Given the description of an element on the screen output the (x, y) to click on. 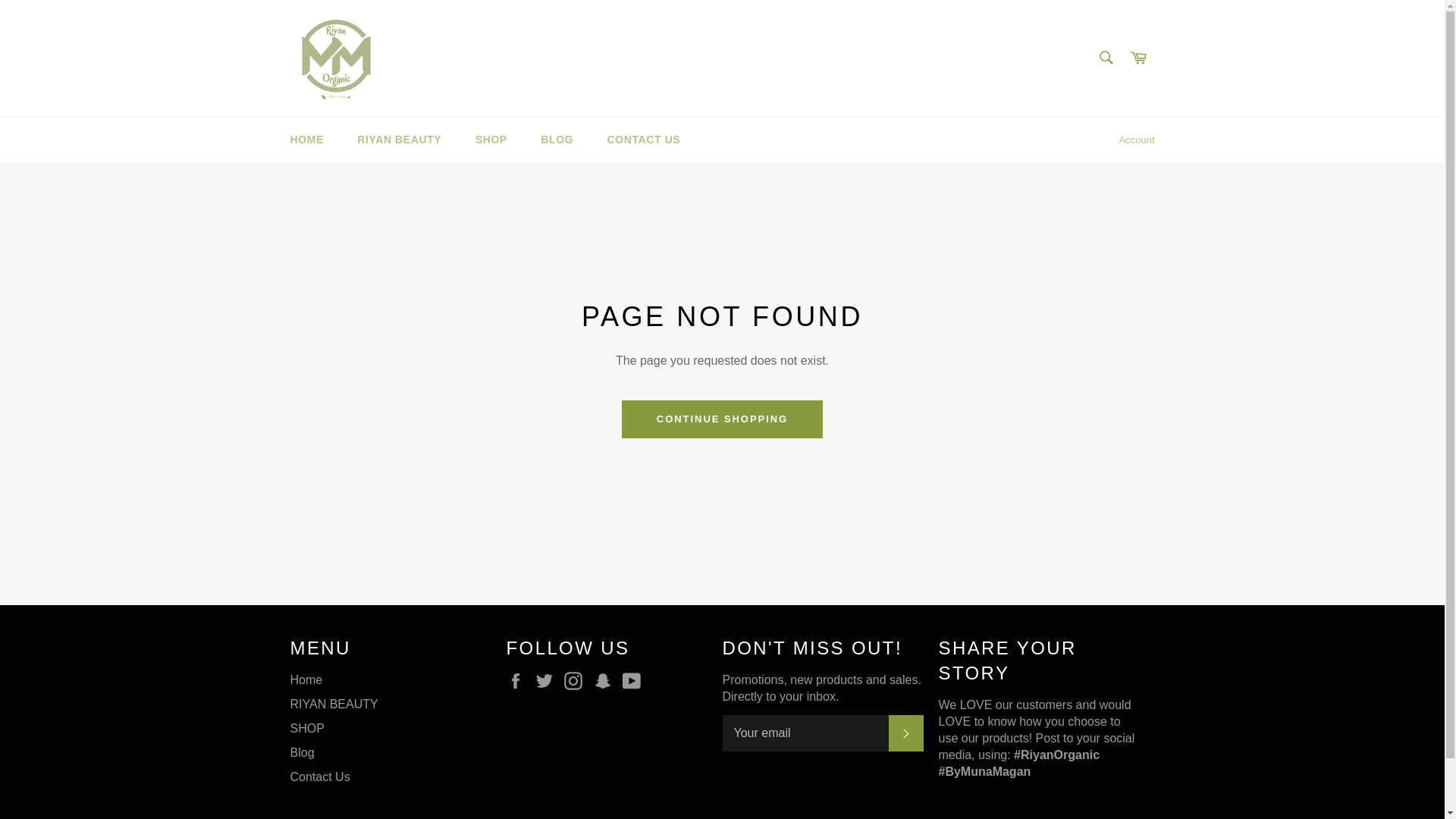
Home (305, 679)
Instagram (576, 680)
Search (1104, 56)
HOME (306, 139)
RIYAN BEAUTY (333, 703)
Facebook (519, 680)
Riyan Organic by Muna Magan on Facebook (519, 680)
BLOG (556, 139)
Riyan Organic by Muna Magan on Snapchat (607, 680)
SUBSCRIBE (905, 732)
Cart (1138, 57)
SHOP (491, 139)
Blog (301, 752)
YouTube (635, 680)
Riyan Organic by Muna Magan on YouTube (635, 680)
